Given the description of an element on the screen output the (x, y) to click on. 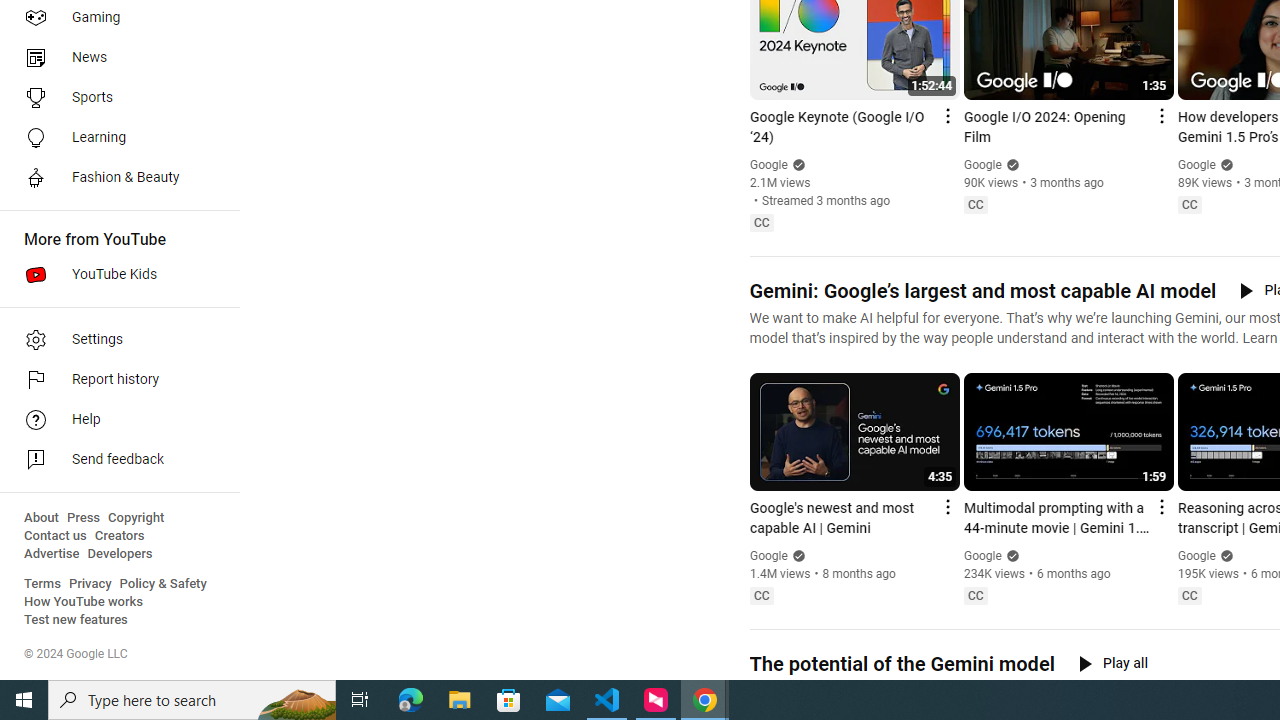
YouTube Kids (113, 274)
Fashion & Beauty (113, 177)
Policy & Safety (163, 584)
Learning (113, 137)
Play all (1113, 663)
Contact us (55, 536)
Developers (120, 554)
The potential of the Gemini model (901, 664)
Closed captions (1189, 595)
Test new features (76, 620)
Send feedback (113, 459)
